Given the description of an element on the screen output the (x, y) to click on. 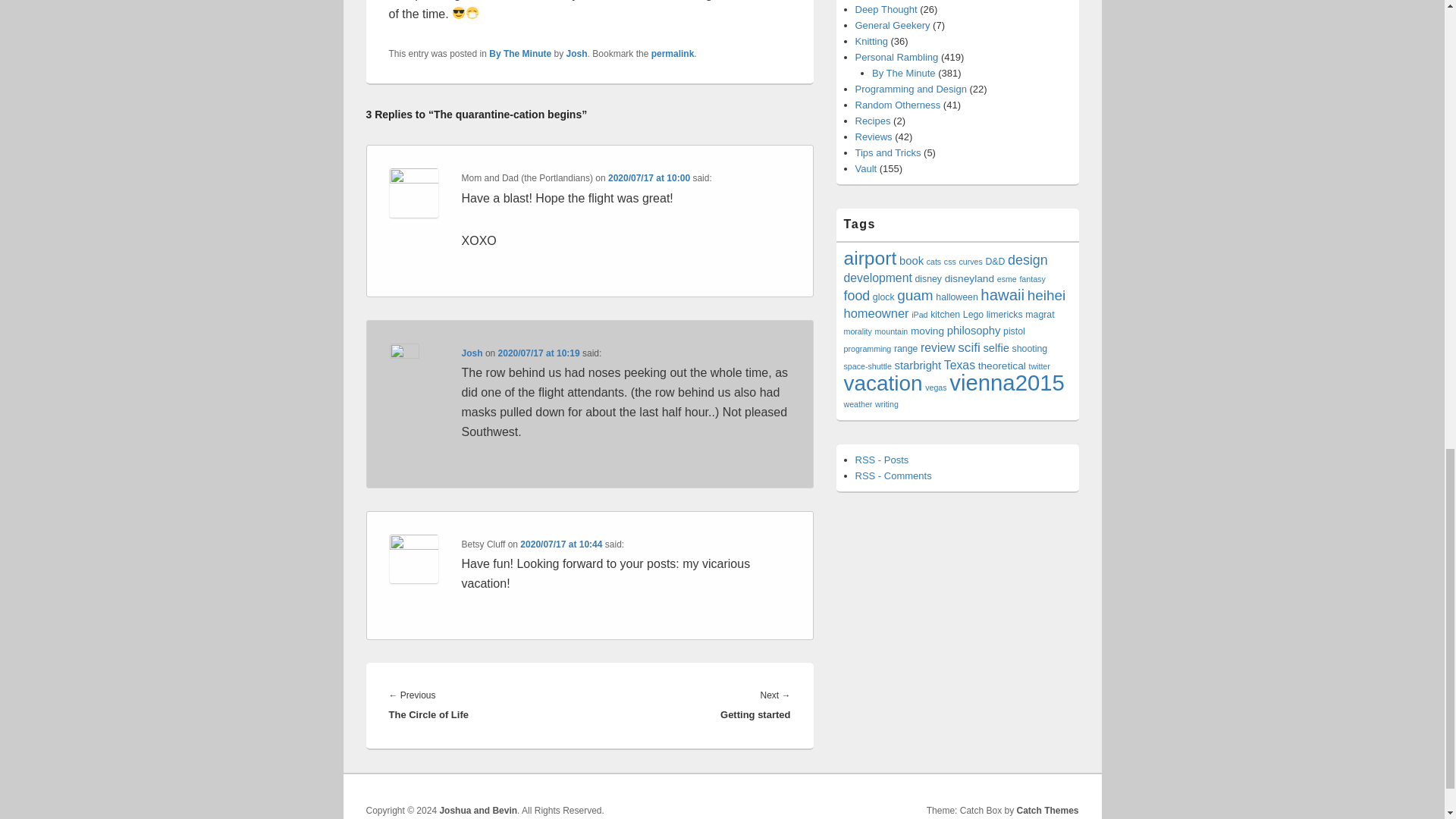
curves (969, 261)
Subscribe to comments (893, 475)
Recipes (873, 120)
General Geekery (893, 25)
Permalink to The quarantine-cation begins (672, 53)
Deep Thought (886, 9)
Knitting (872, 41)
airport (869, 258)
Programming and Design (911, 89)
Random Otherness (898, 104)
Joshua and Bevin (477, 810)
css (949, 261)
Josh (577, 53)
Tips and Tricks (888, 152)
By The Minute (904, 72)
